Given the description of an element on the screen output the (x, y) to click on. 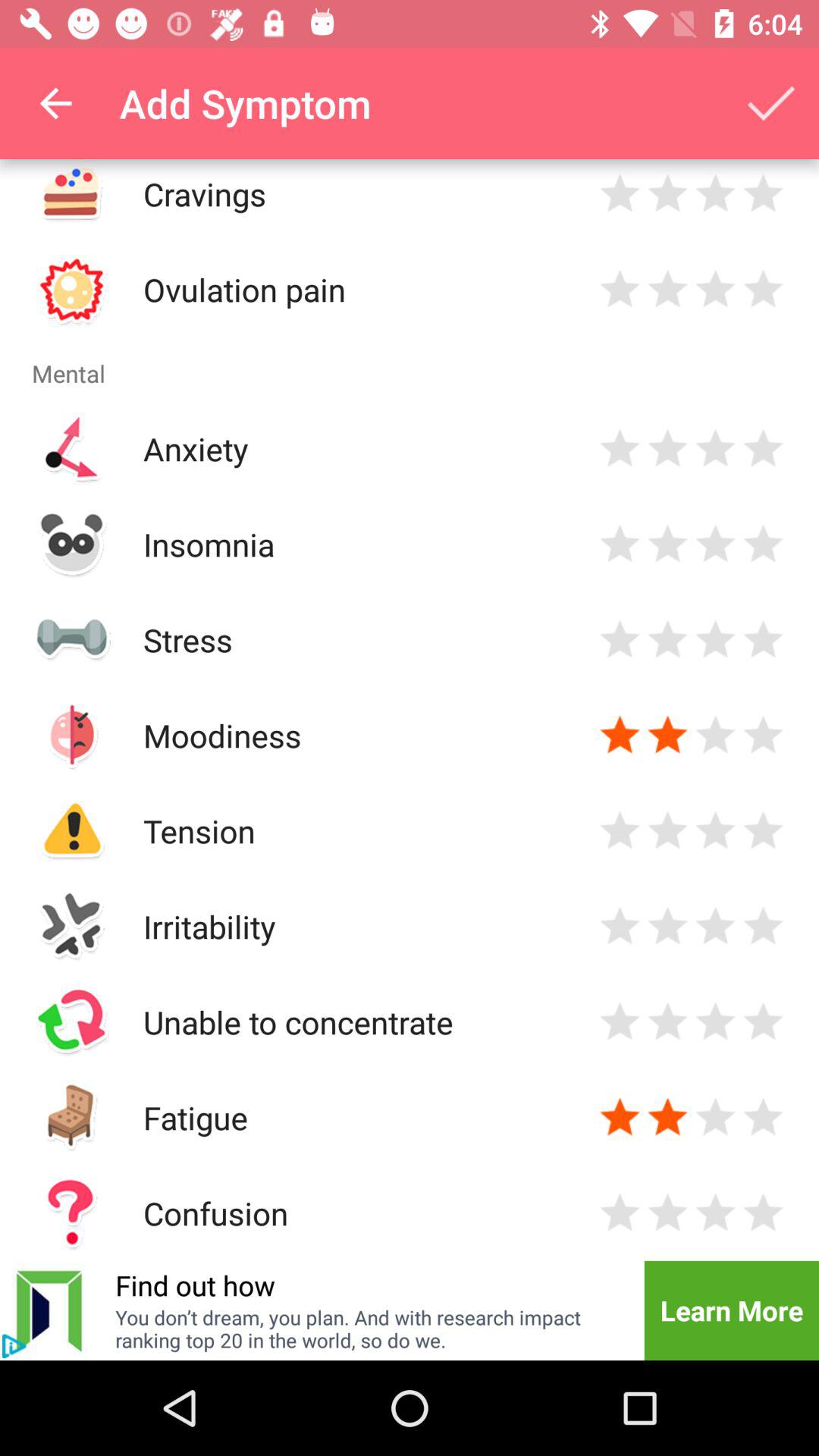
rate item 3 stars (715, 193)
